Given the description of an element on the screen output the (x, y) to click on. 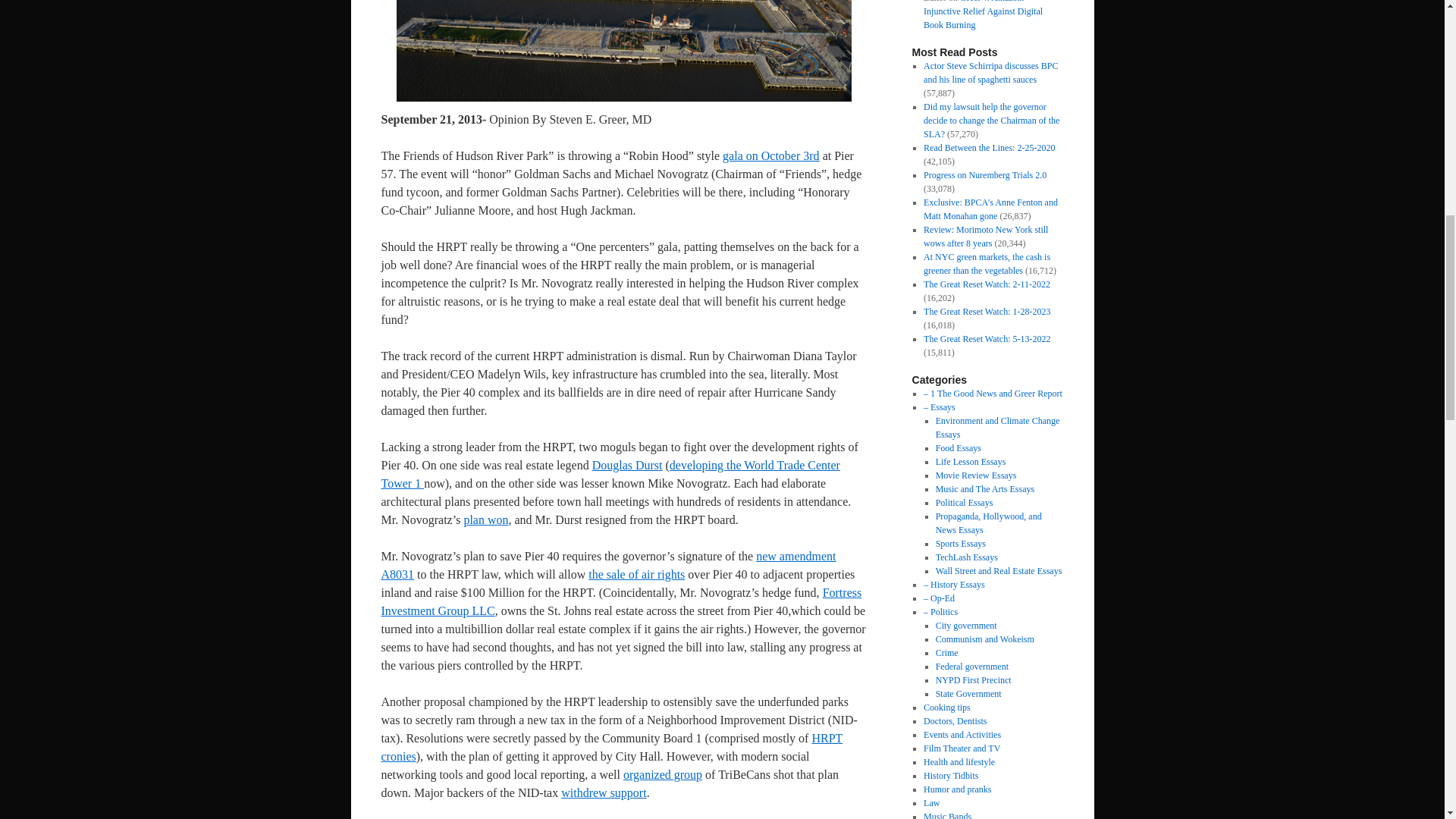
withdrew support (603, 792)
Read Between the Lines: 2-25-2020 (988, 147)
new amendment A8031 (607, 564)
organized group (662, 774)
Exclusive: BPCA's Anne Fenton and Matt Monahan gone (990, 209)
Douglas Durst (627, 464)
The Great Reset Watch: 2-11-2022 (986, 284)
the sale of air rights (636, 574)
gala on October 3rd (770, 155)
Fortress Investment Group LLC (620, 601)
The Great Reset Watch: 5-13-2022 (986, 338)
plan won (485, 519)
Progress on Nuremberg Trials 2.0 (984, 174)
HRPT cronies (611, 747)
